Given the description of an element on the screen output the (x, y) to click on. 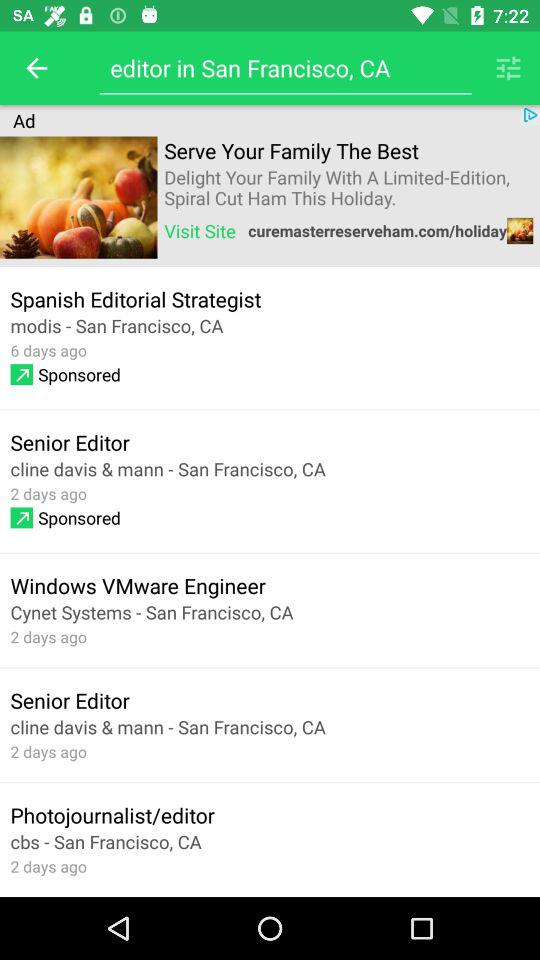
go back (36, 68)
